Given the description of an element on the screen output the (x, y) to click on. 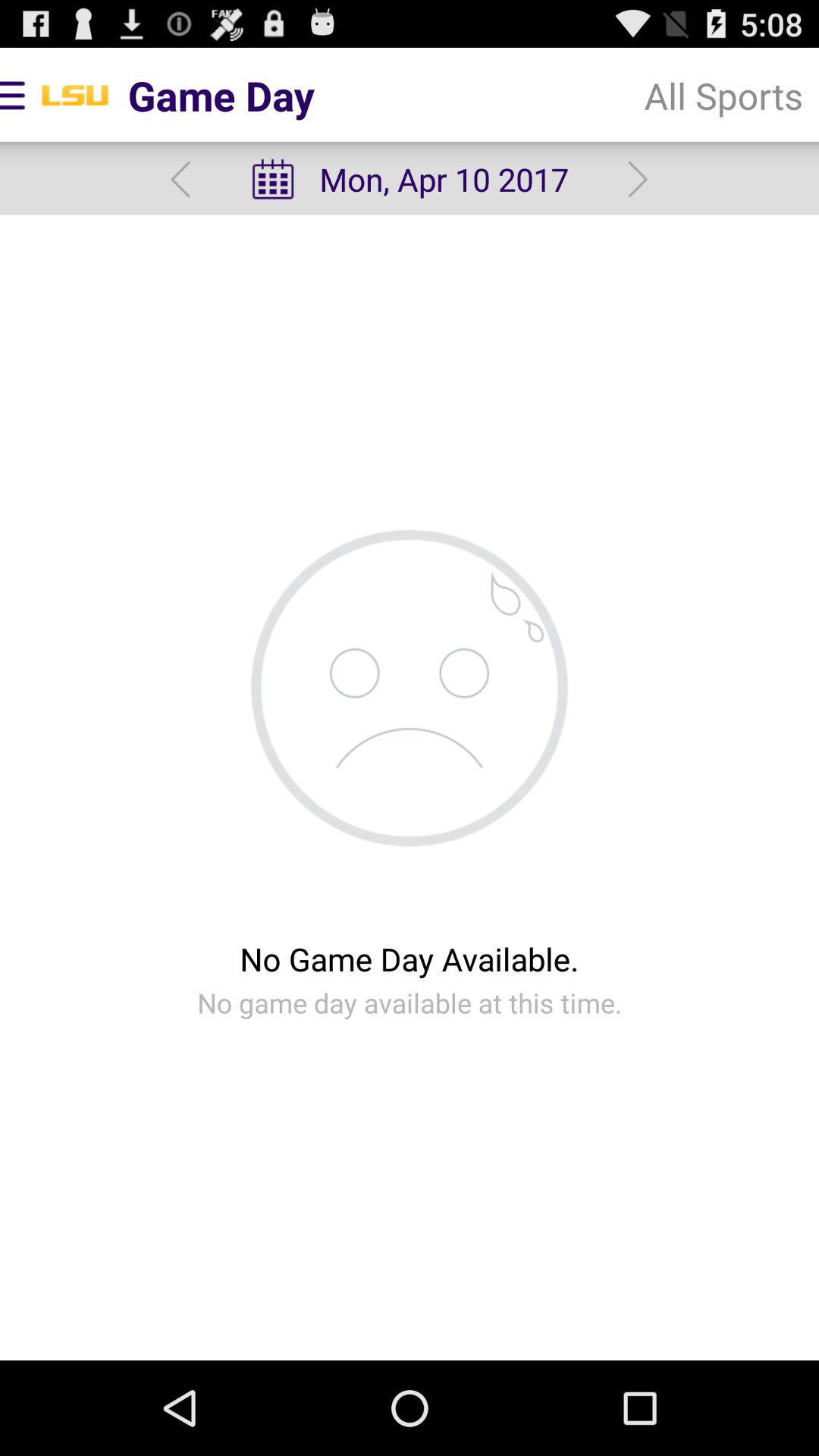
go to previous day (180, 178)
